Given the description of an element on the screen output the (x, y) to click on. 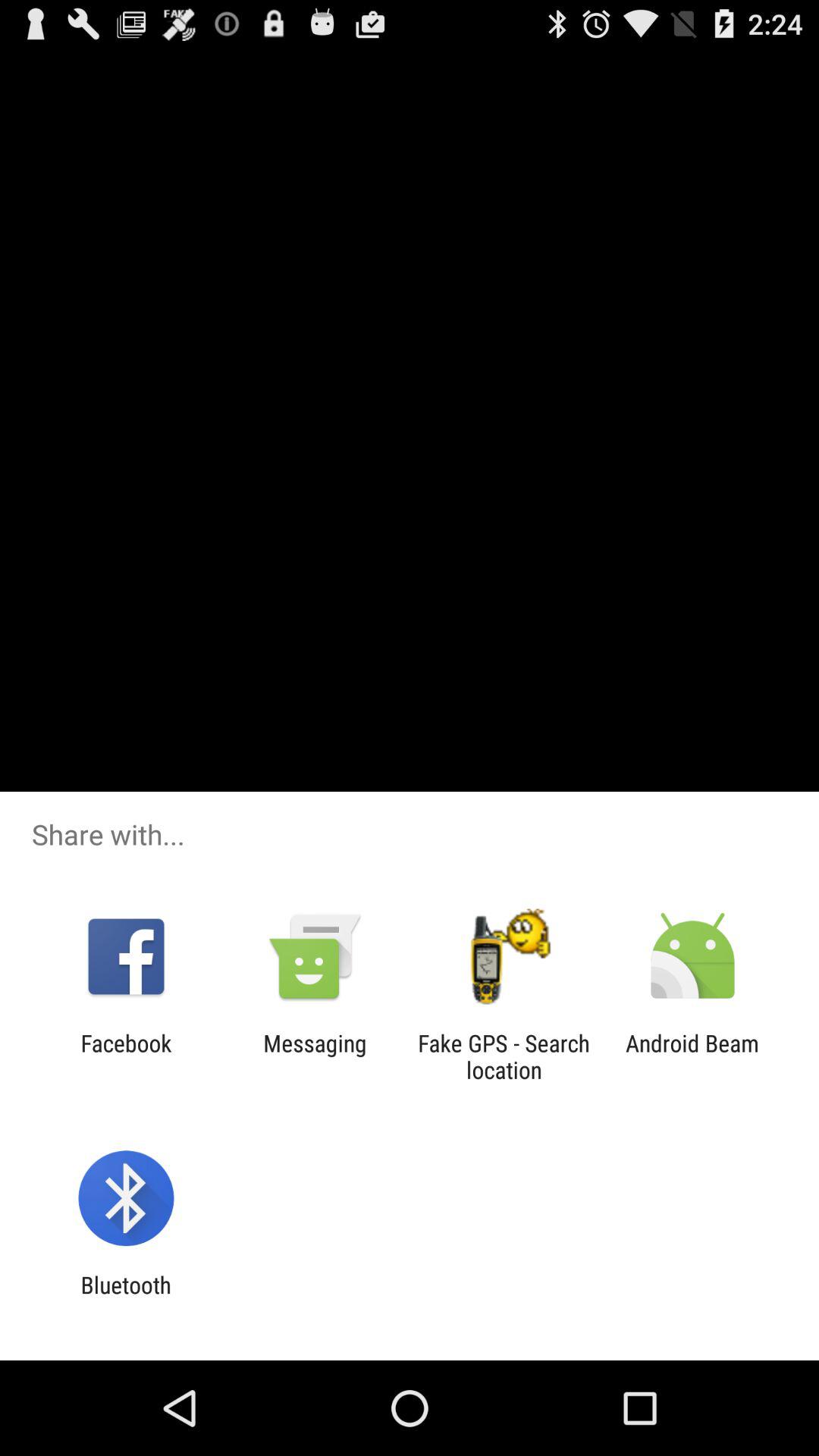
jump until the android beam (692, 1056)
